Given the description of an element on the screen output the (x, y) to click on. 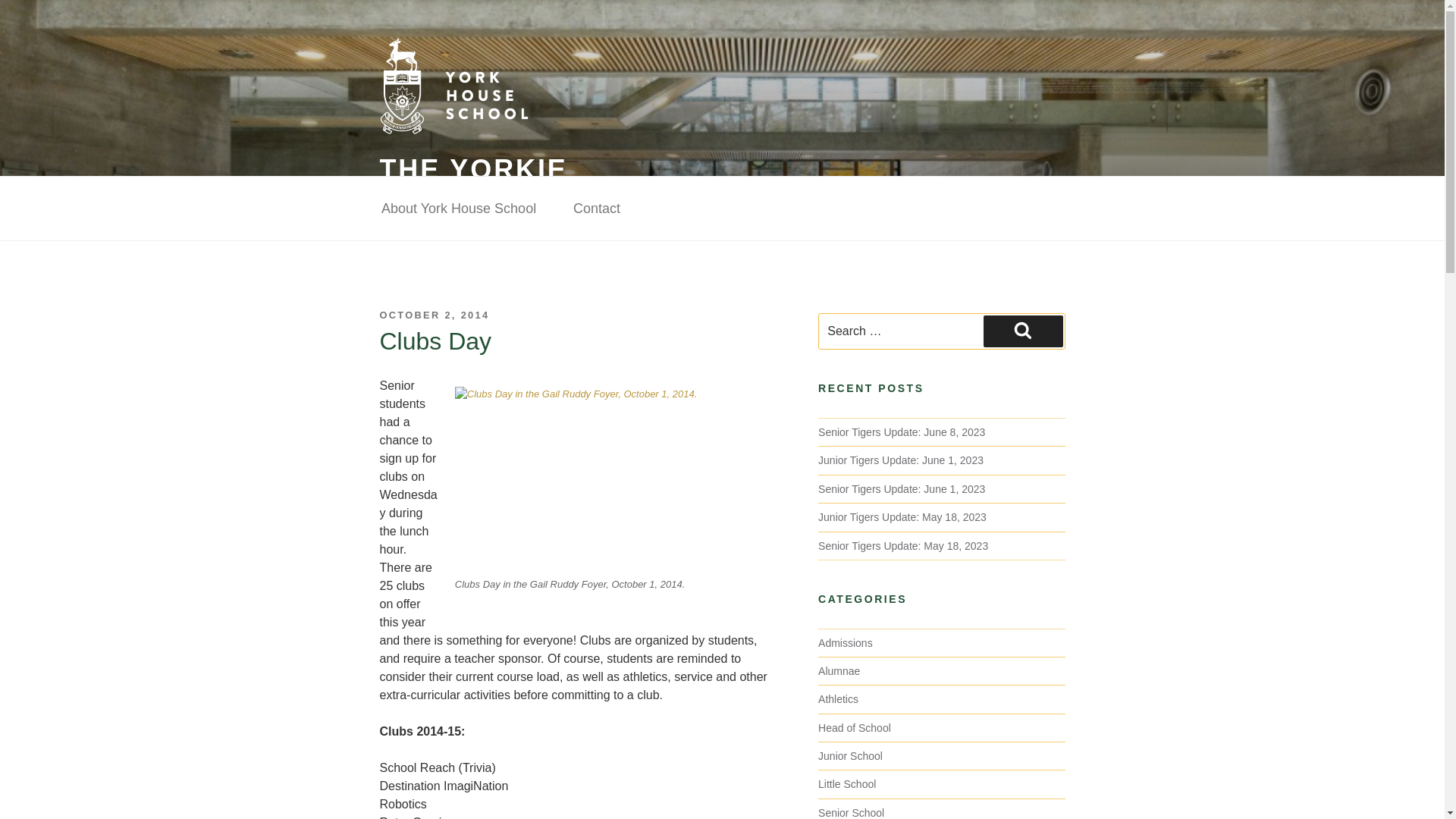
Senior Tigers Update: June 8, 2023 (901, 431)
Junior Tigers Update: June 1, 2023 (901, 460)
Head of School (854, 727)
Contact (596, 208)
Search (1023, 331)
Athletics (838, 698)
Junior Tigers Update: May 18, 2023 (902, 517)
THE YORKIE (472, 169)
Senior Tigers Update: May 18, 2023 (903, 545)
Junior School (850, 756)
